Given the description of an element on the screen output the (x, y) to click on. 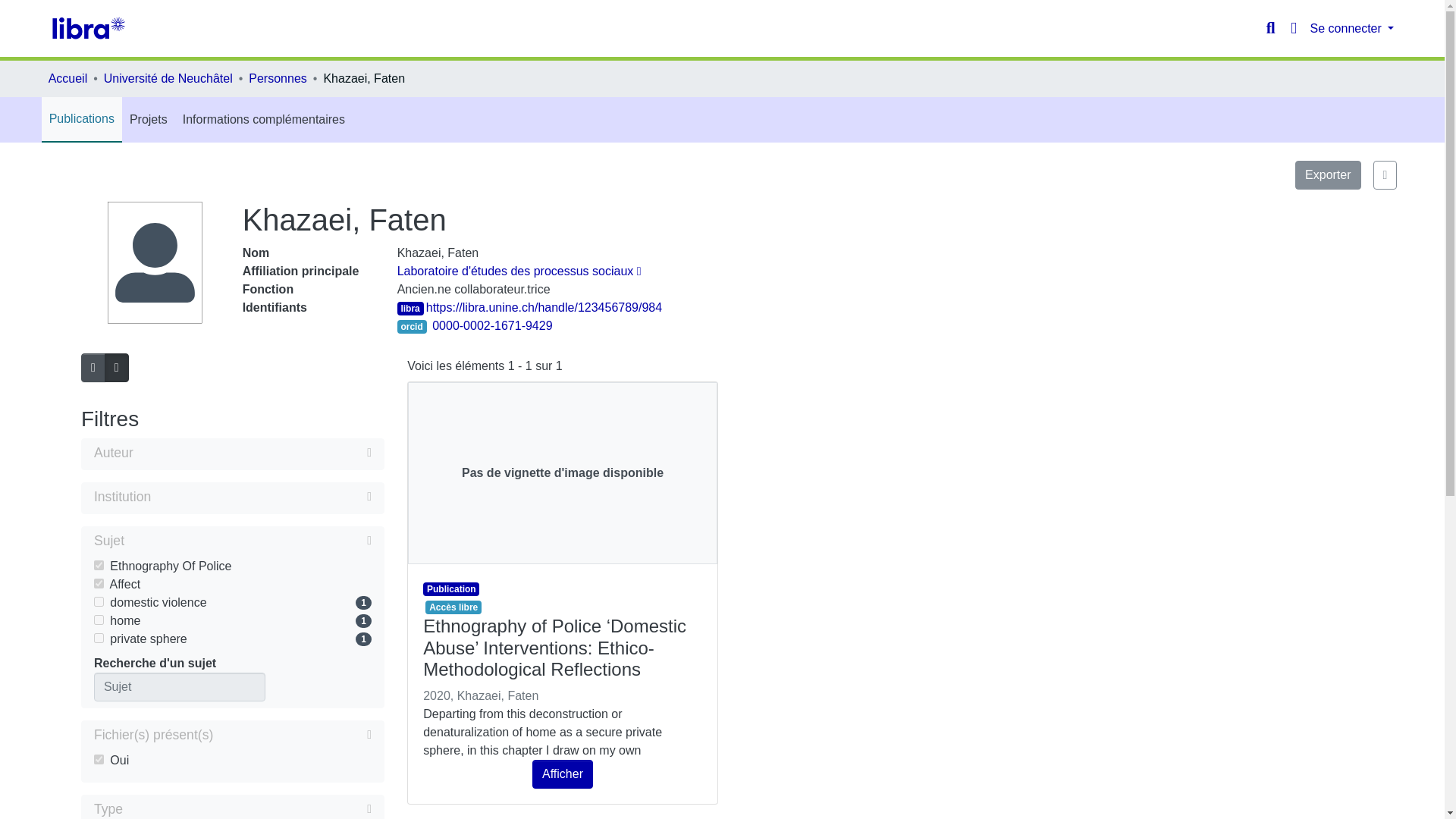
Institution (232, 497)
on (98, 619)
Exporter (1327, 174)
on (98, 583)
on (98, 759)
Accueil (67, 78)
on (98, 565)
on (98, 637)
Auteur (232, 454)
Projets (148, 119)
Se connecter (1352, 28)
Sujet (232, 542)
Personnes (277, 78)
0000-0002-1671-9429 (491, 325)
Filtre (246, 809)
